Given the description of an element on the screen output the (x, y) to click on. 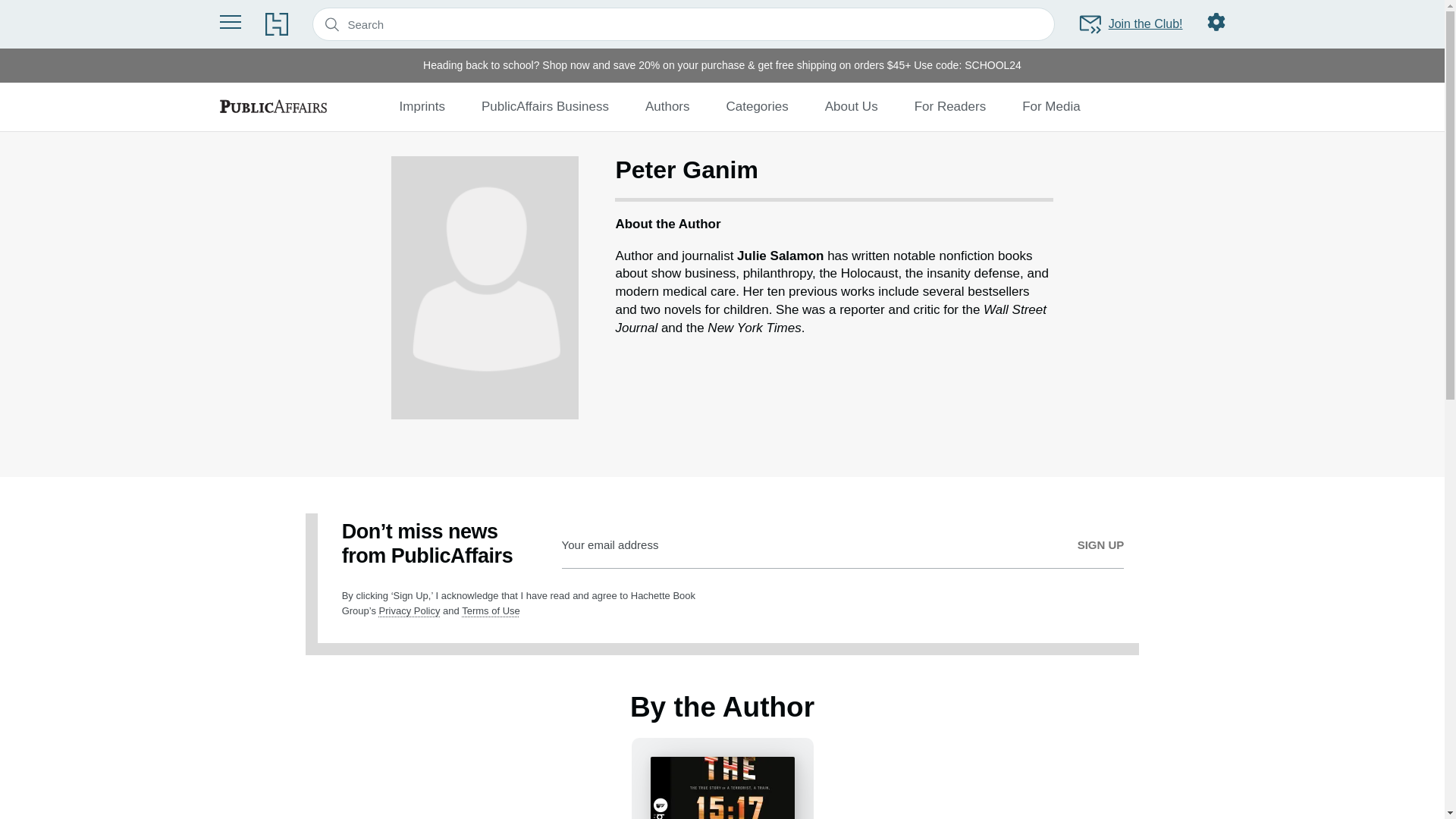
PublicAffairs Business (544, 106)
Join the Club! (1130, 24)
Categories (757, 106)
Go to Hachette Book Group home (276, 24)
Authors (667, 106)
Imprints (421, 106)
